Given the description of an element on the screen output the (x, y) to click on. 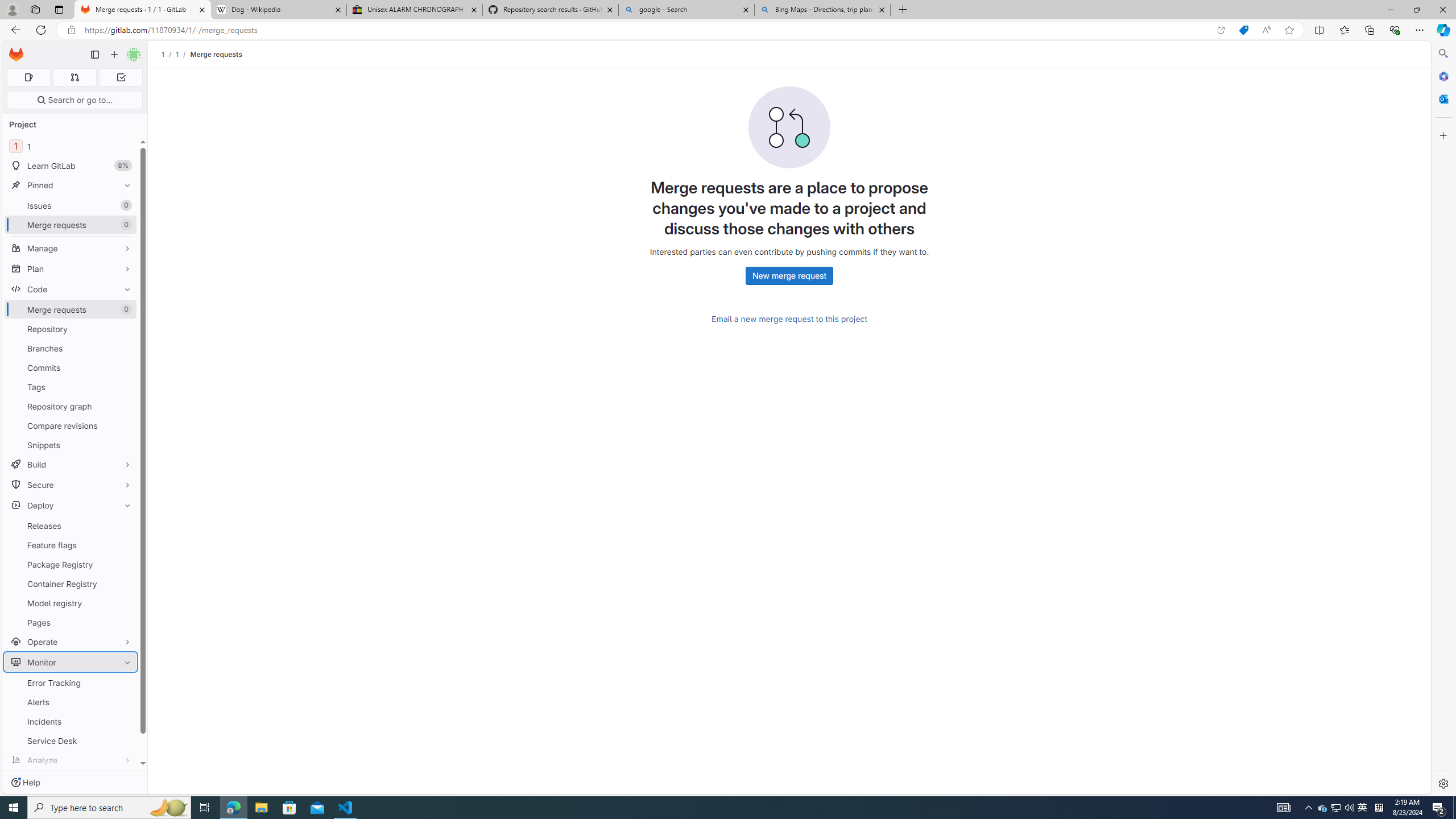
Email a new merge request to this project (789, 319)
Build (70, 464)
Pin Package Registry (124, 564)
Pin Tags (124, 386)
Issues 0 (70, 205)
Alerts (70, 701)
Feature flags (70, 544)
Pin Feature flags (124, 545)
Pin Commits (124, 367)
Operate (70, 641)
Secure (70, 484)
Package Registry (70, 564)
Container Registry (70, 583)
